Given the description of an element on the screen output the (x, y) to click on. 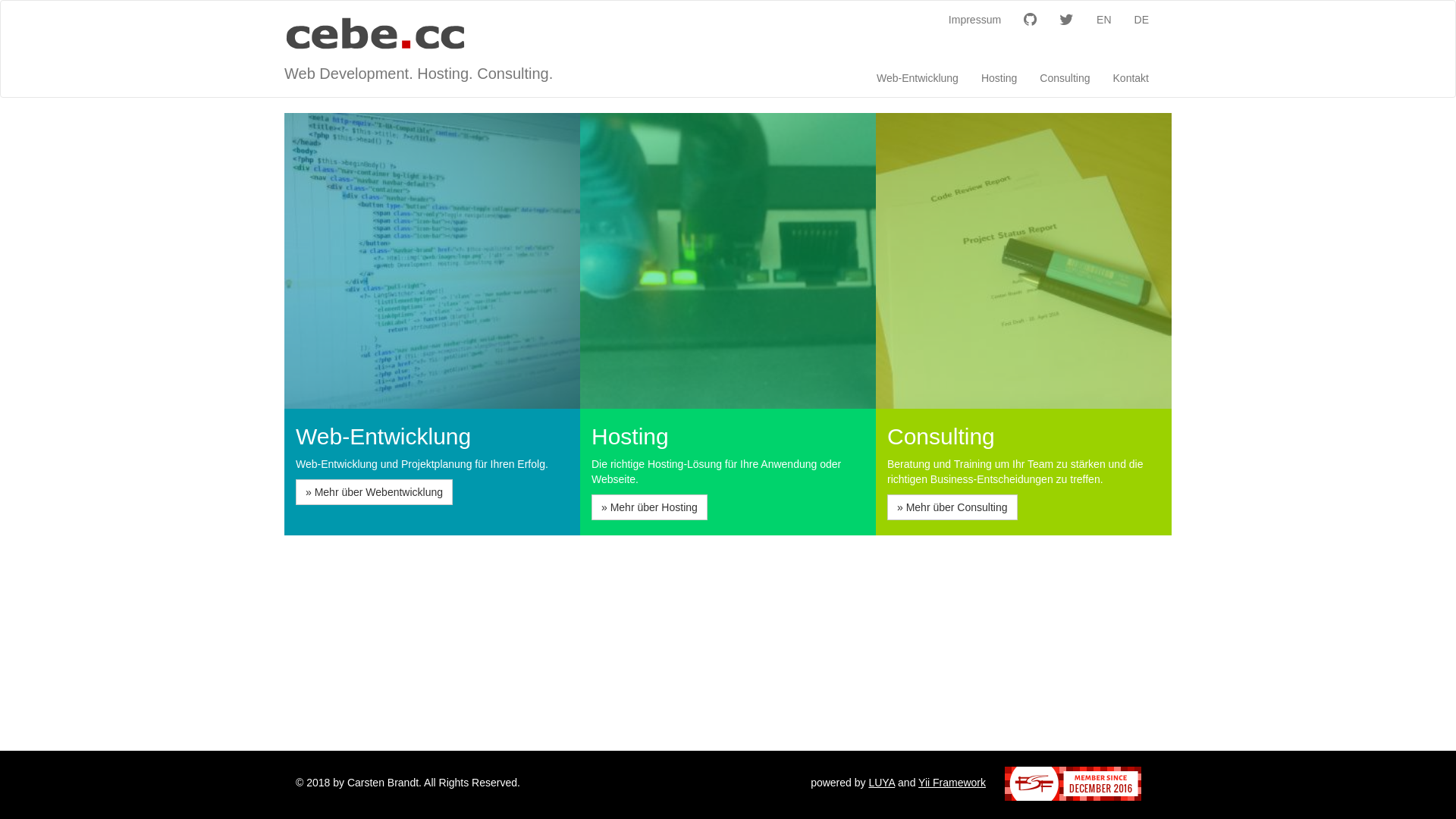
Impressum Element type: text (974, 19)
Switch Element type: hover (727, 260)
LUYA Element type: text (881, 782)
Kontakt Element type: text (1130, 78)
Hosting Element type: text (998, 78)
cebe.cc on Twitter Element type: hover (1066, 20)
Free Software Foundation Member since 2016 Element type: hover (1072, 783)
Foto eines Code Review Dokumentes Element type: hover (1023, 260)
Web-Entwicklung Element type: text (917, 78)
Consulting Element type: text (1064, 78)
DE Element type: text (1141, 19)
Yii Framework Element type: text (951, 782)
cebe.cc on Github Element type: hover (1030, 20)
Website HTML Source Code Element type: hover (432, 260)
EN Element type: text (1103, 19)
Web Development. Hosting. Consulting. Element type: text (418, 34)
